Given the description of an element on the screen output the (x, y) to click on. 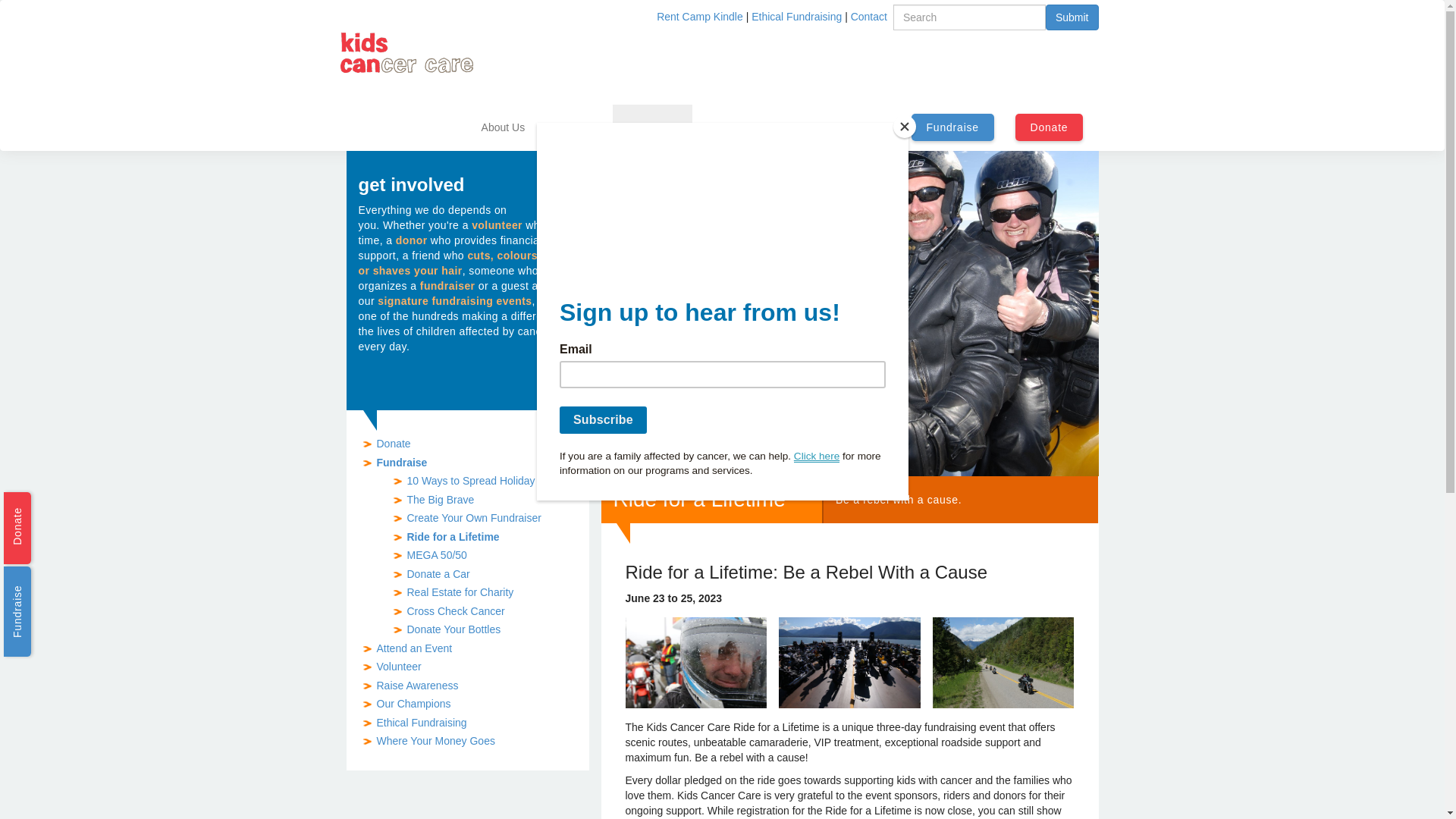
Get Involved Element type: text (652, 127)
Fundraise Element type: text (957, 127)
Where Your Money Goes Element type: text (435, 740)
Rent Camp Kindle Element type: text (699, 16)
cuts, colours or shaves your hair Element type: text (446, 262)
Stories Element type: text (770, 127)
Kids Cancer Care Element type: text (405, 51)
Donate a Car Element type: text (437, 573)
Volunteer Element type: text (398, 666)
The Big Brave Element type: text (439, 499)
Ride for a Lifetime Element type: text (452, 536)
Ethical Fundraising Element type: text (421, 722)
donor Element type: text (411, 240)
Donate Element type: text (48, 507)
Impact Element type: text (717, 127)
Submit Element type: text (1071, 17)
About Us Element type: text (503, 127)
Create Your Own Fundraiser Element type: text (473, 517)
For Families Element type: text (573, 127)
Donate Element type: text (1056, 127)
volunteer Element type: text (496, 225)
Contact Element type: text (868, 16)
Childhood Cancer Element type: text (848, 127)
Real Estate for Charity Element type: text (459, 592)
fundraiser Element type: text (447, 285)
Donate Your Bottles Element type: text (453, 629)
Ethical Fundraising Element type: text (796, 16)
Raise Awareness Element type: text (417, 685)
Cross Check Cancer Element type: text (455, 611)
signature fundraising events Element type: text (454, 300)
10 Ways to Spread Holiday Cheer Element type: text (486, 480)
Our Champions Element type: text (413, 703)
Donate Element type: text (393, 443)
Fundraise Element type: text (401, 462)
Fundraise Element type: text (51, 581)
Attend an Event Element type: text (413, 648)
MEGA 50/50 Element type: text (436, 555)
